Given the description of an element on the screen output the (x, y) to click on. 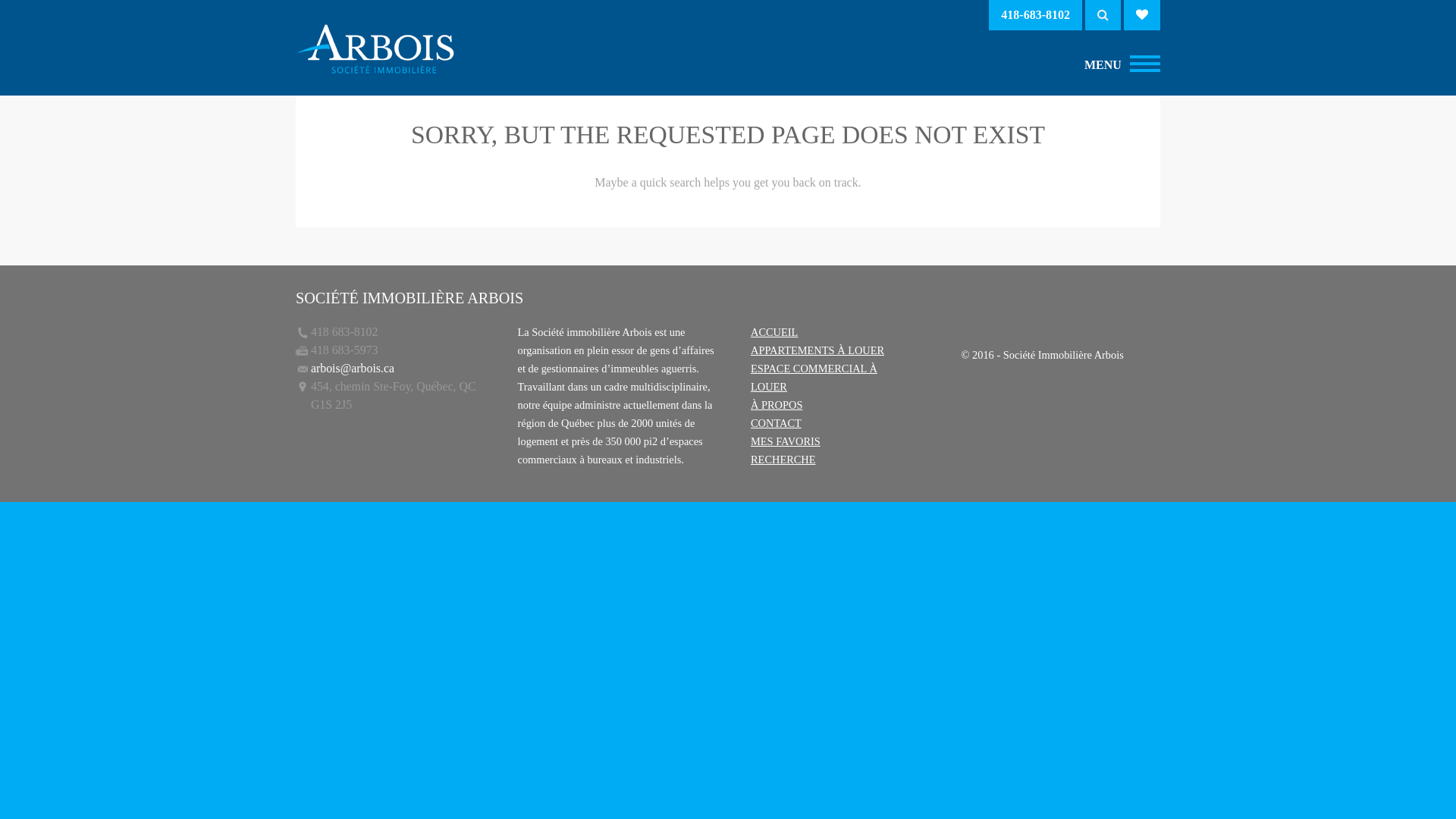
arbois@arbois.ca Element type: text (352, 367)
MENU Element type: text (1144, 65)
ACCUEIL Element type: text (773, 332)
RECHERCHE Element type: text (782, 459)
CONTACT Element type: text (775, 423)
MES FAVORIS Element type: text (785, 441)
418-683-8102 Element type: text (1035, 15)
